Given the description of an element on the screen output the (x, y) to click on. 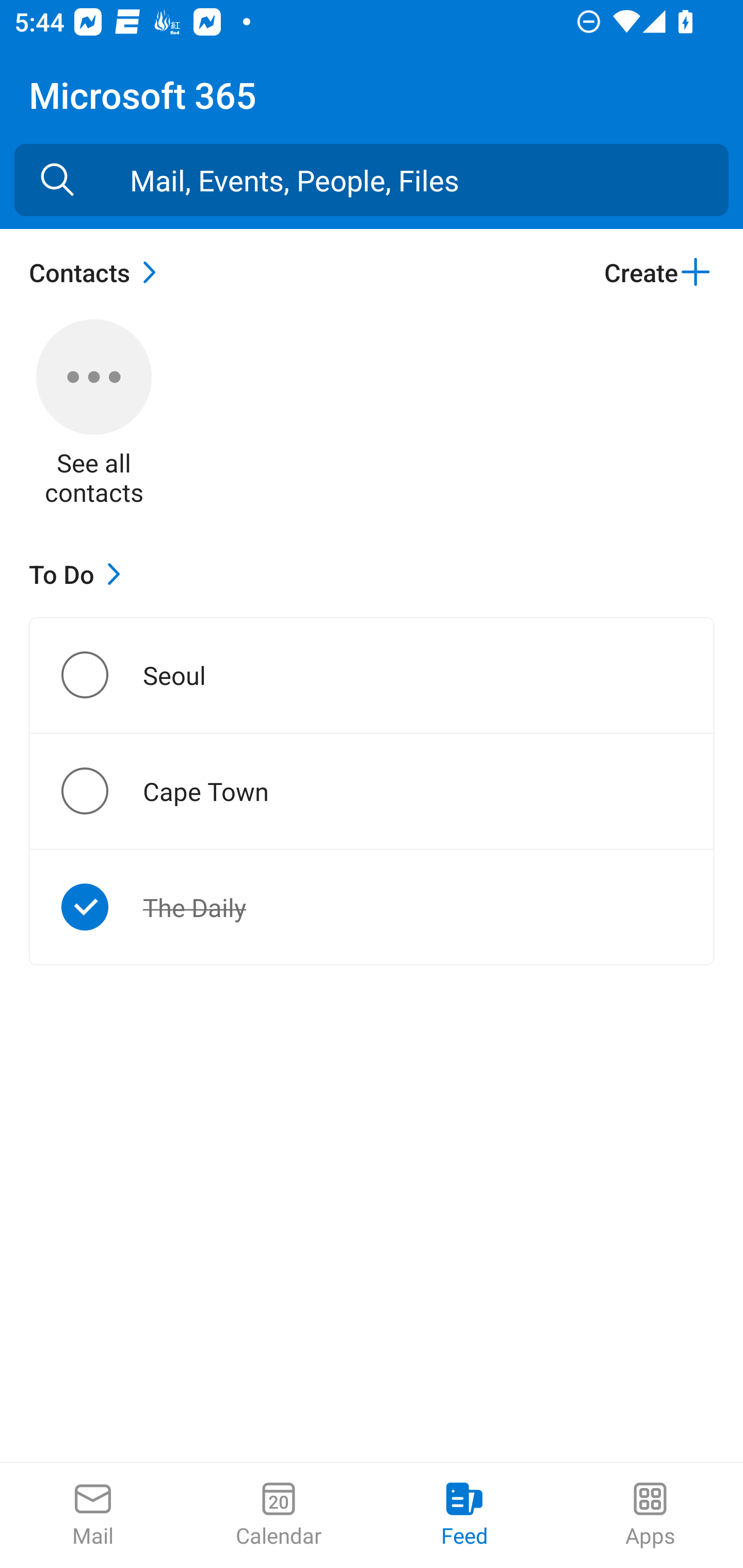
Search for Mail, Events, People, Files (57, 180)
Contacts (97, 271)
Create Create contact (658, 271)
See all contacts (93, 414)
To Do (79, 573)
Seoul Seoul Seoul. not completed (371, 674)
Seoul (101, 674)
Cape Town Cape Town Cape Town. not completed (371, 790)
Cape Town (101, 790)
The Daily The Daily The Daily. completed (371, 906)
The Daily (101, 906)
Mail (92, 1515)
Calendar (278, 1515)
Apps (650, 1515)
